Given the description of an element on the screen output the (x, y) to click on. 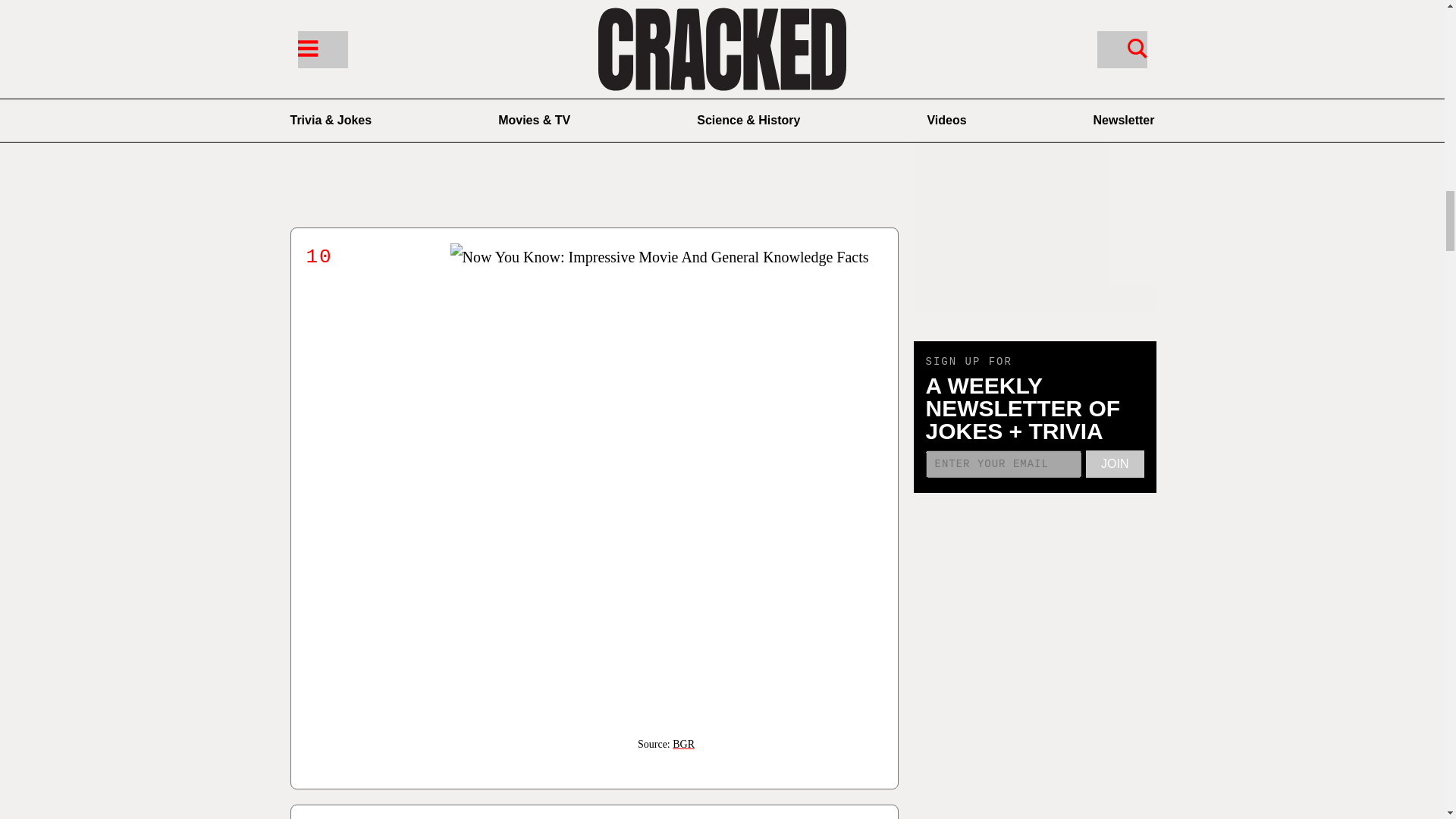
BGR (683, 744)
